Given the description of an element on the screen output the (x, y) to click on. 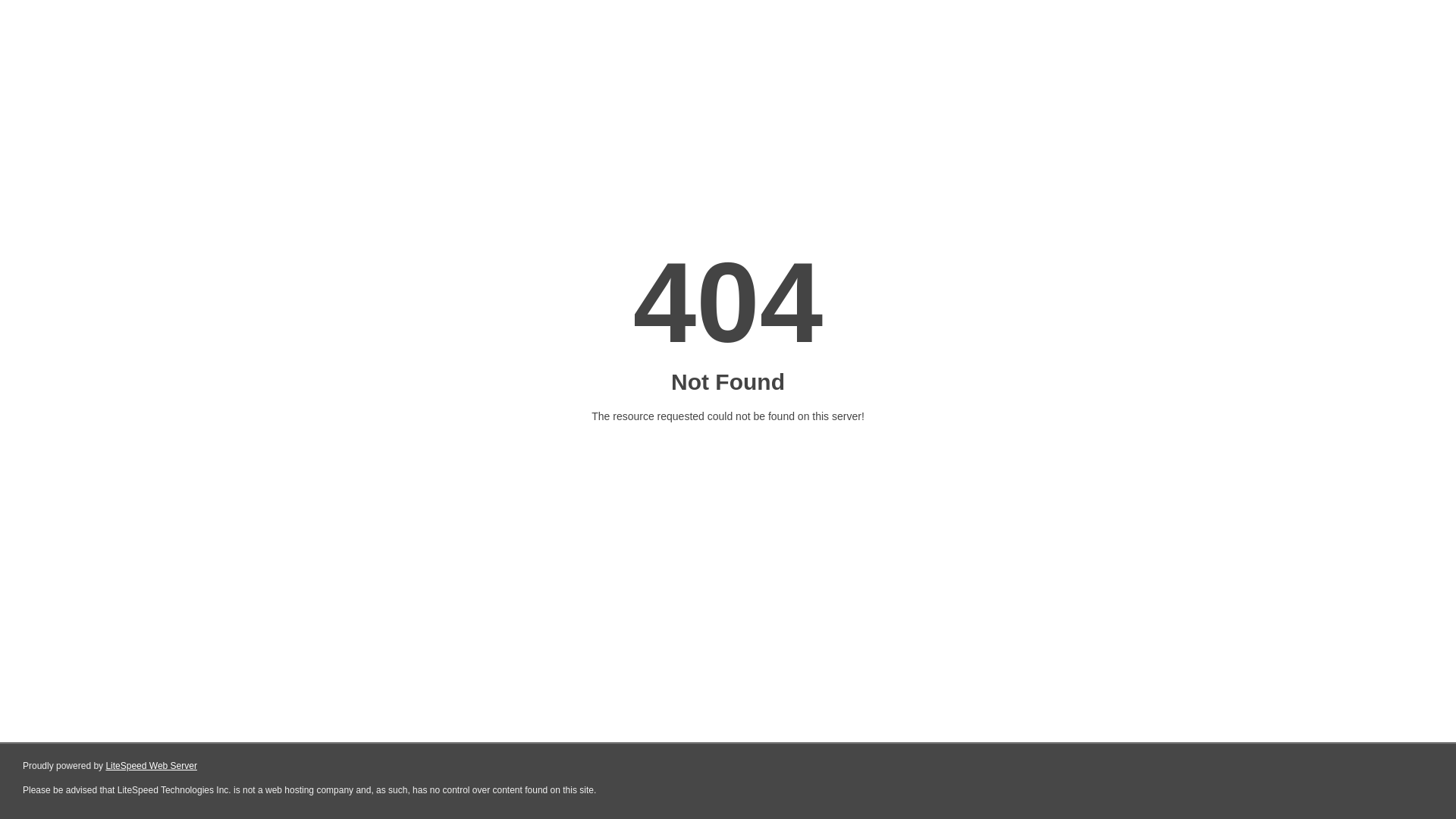
LiteSpeed Web Server Element type: text (151, 765)
